Given the description of an element on the screen output the (x, y) to click on. 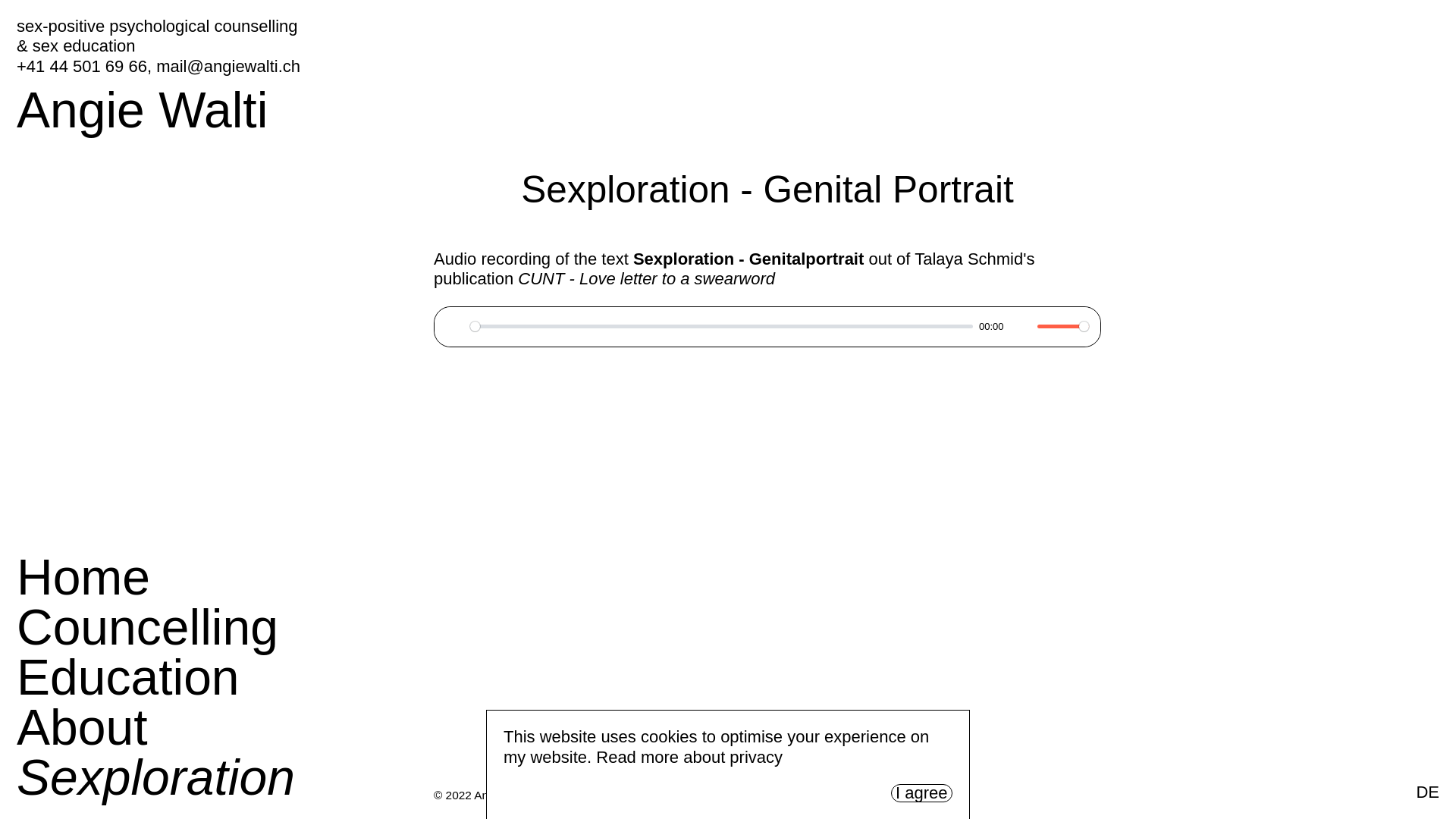
I agree Element type: text (921, 793)
Play Element type: text (454, 326)
DE Element type: text (1427, 792)
+41 44 501 69 66 Element type: text (81, 65)
Sexploration Element type: text (155, 777)
mail@angiewalti.ch Element type: text (228, 65)
Mute Element type: text (1021, 326)
Education Element type: text (127, 677)
Councelling Element type: text (147, 627)
Angie Walti Element type: text (141, 109)
About Element type: text (81, 727)
Home Element type: text (83, 577)
Read more about privacy Element type: text (689, 756)
Privacy & Imprint Element type: text (583, 794)
